Given the description of an element on the screen output the (x, y) to click on. 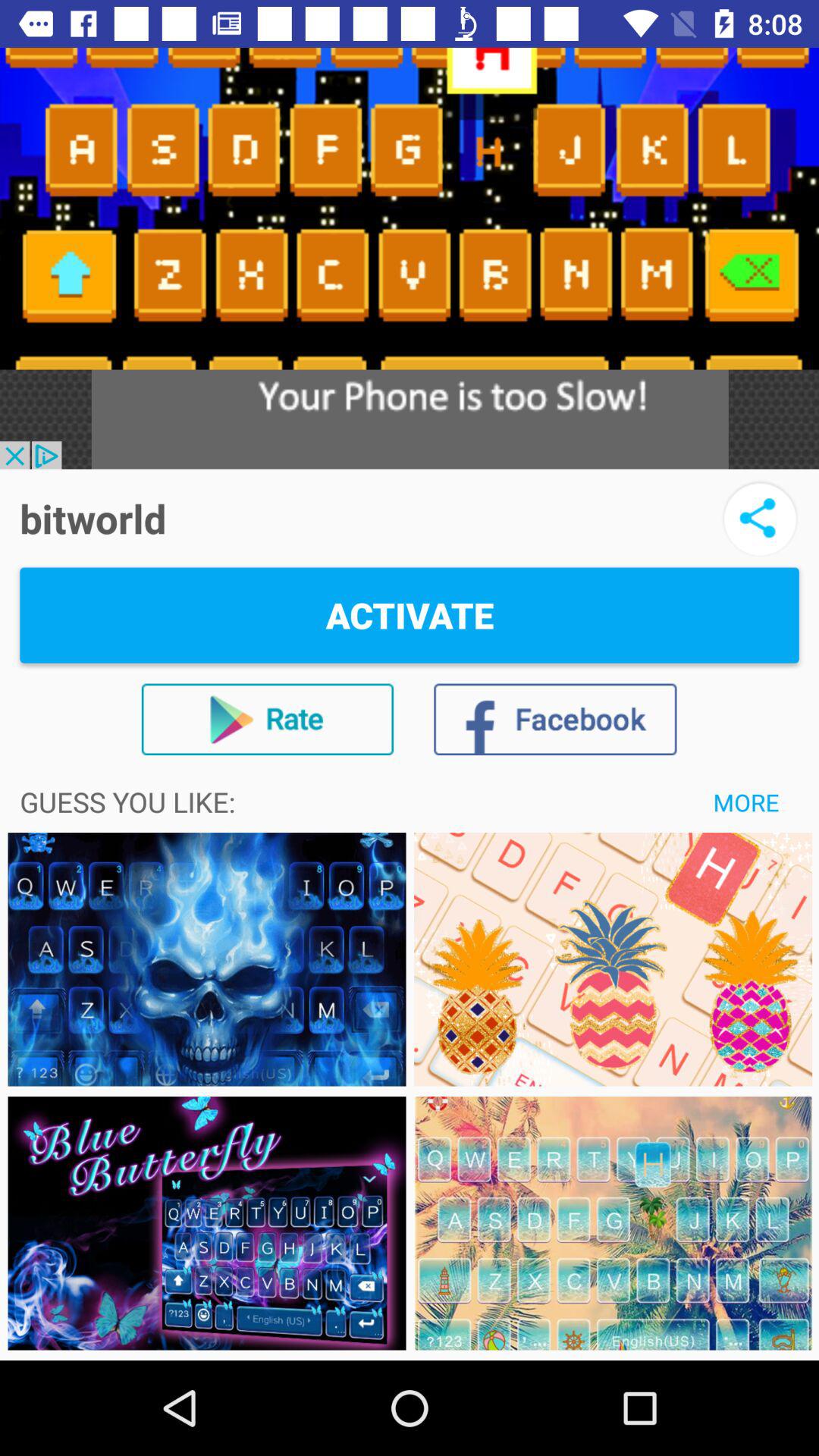
press more (746, 801)
